Given the description of an element on the screen output the (x, y) to click on. 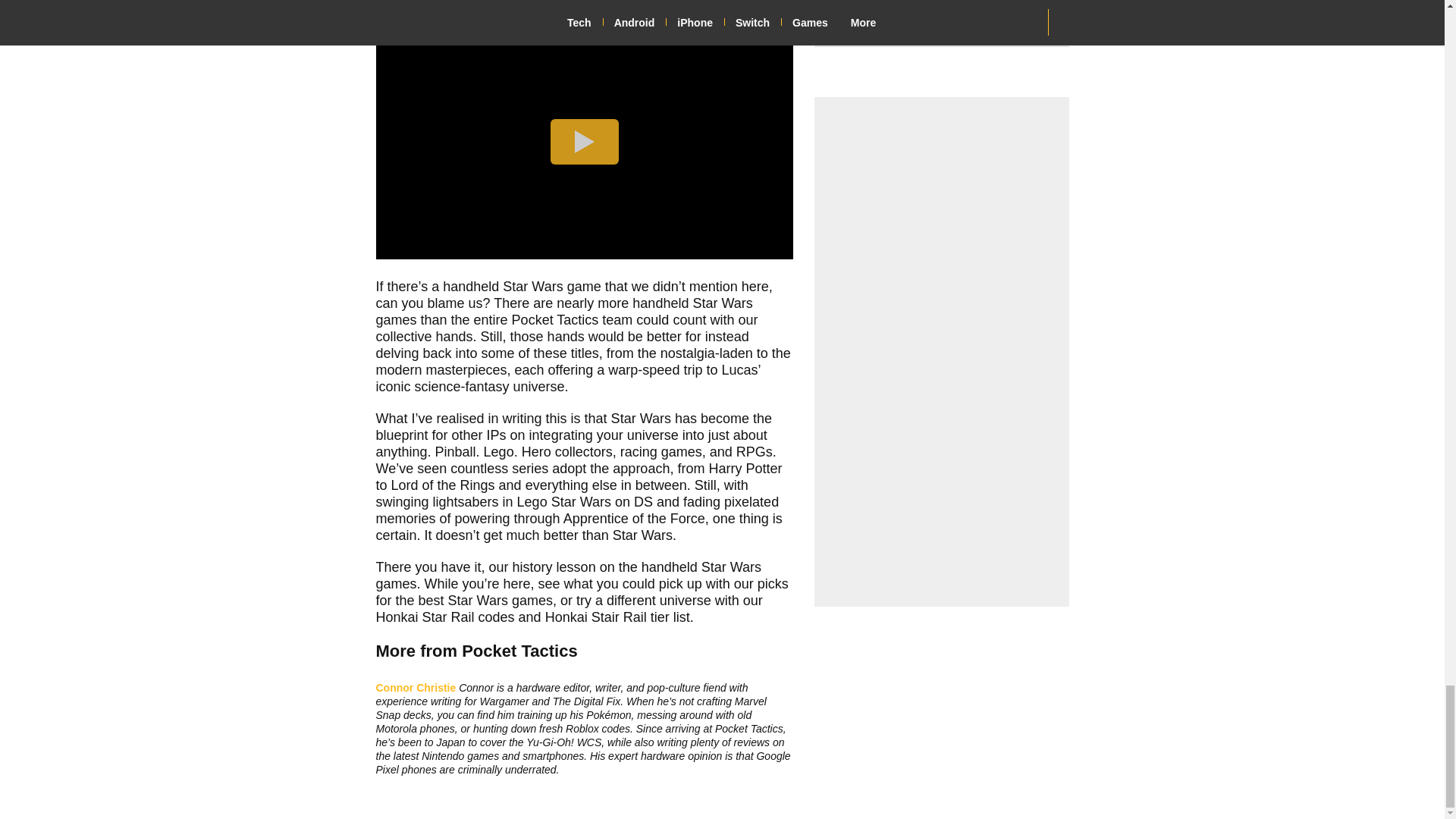
best Star Wars games (486, 600)
Honkai Stair Rail tier list (617, 616)
Honkai Star Rail codes (445, 616)
